Given the description of an element on the screen output the (x, y) to click on. 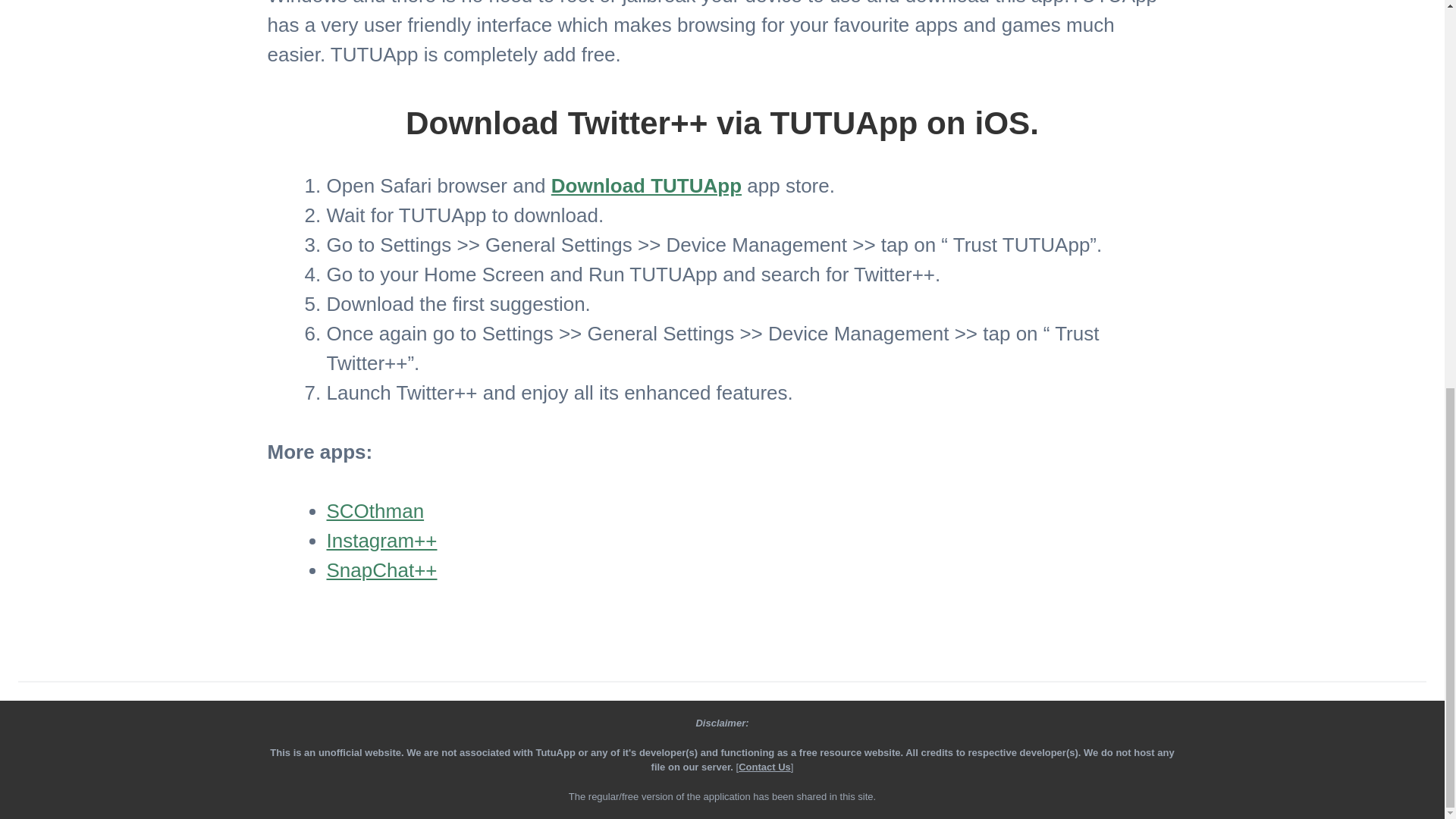
Contact Us (764, 767)
SCOthman (374, 510)
Download TUTUApp (646, 185)
